Given the description of an element on the screen output the (x, y) to click on. 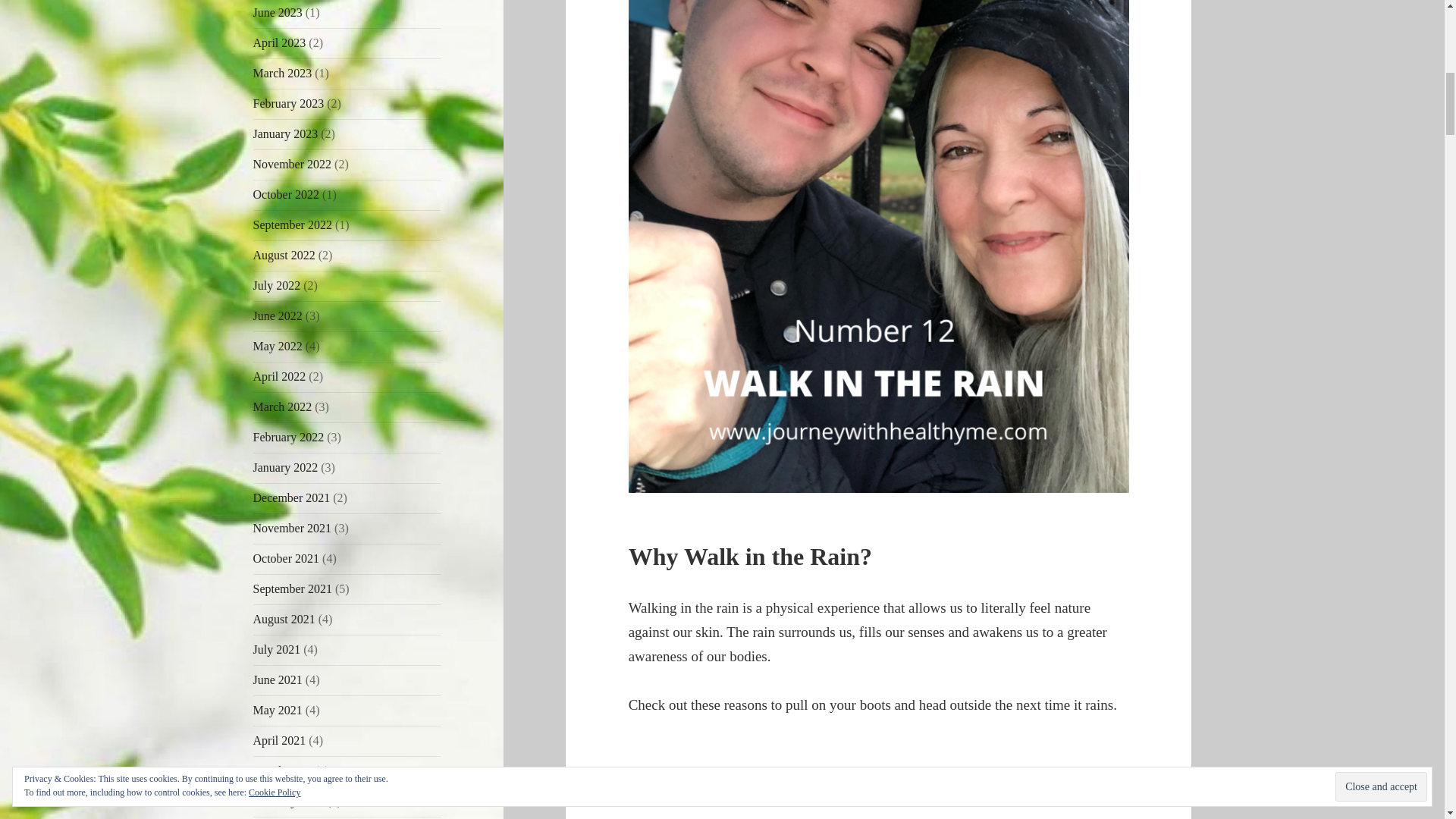
October 2021 (286, 558)
June 2021 (277, 679)
August 2021 (284, 618)
March 2023 (283, 72)
September 2021 (292, 588)
December 2021 (291, 497)
November 2022 (292, 164)
April 2022 (279, 376)
April 2023 (279, 42)
August 2022 (284, 254)
October 2022 (286, 194)
June 2023 (277, 11)
March 2022 (283, 406)
November 2021 (292, 527)
February 2023 (288, 103)
